Given the description of an element on the screen output the (x, y) to click on. 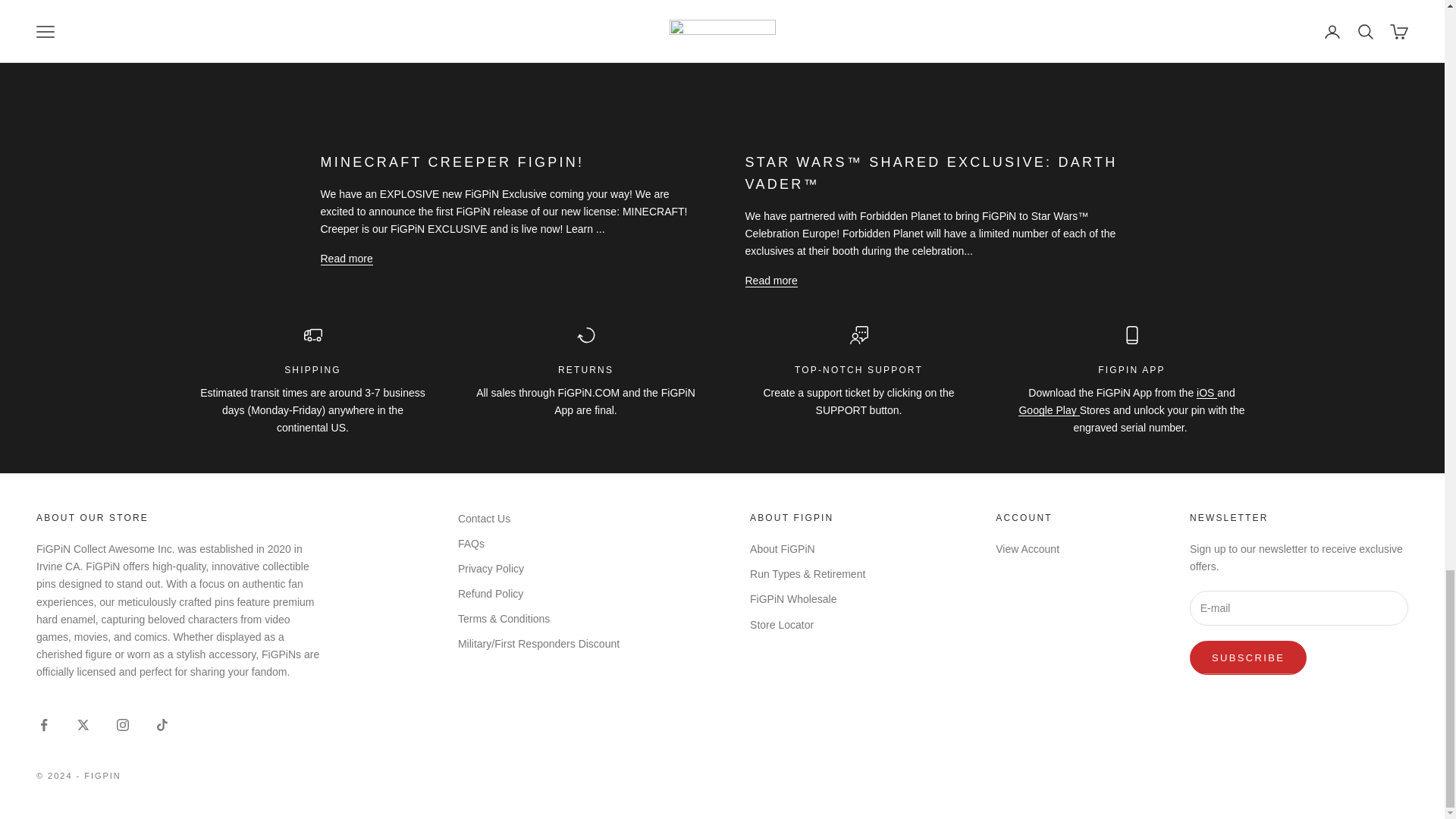
Read more (346, 258)
Read more (770, 280)
Get the FiGPiN App on Google Play (1047, 410)
Get the FiGPiN App on the App Store. (1206, 392)
MINECRAFT CREEPER FIGPIN! (451, 161)
